Given the description of an element on the screen output the (x, y) to click on. 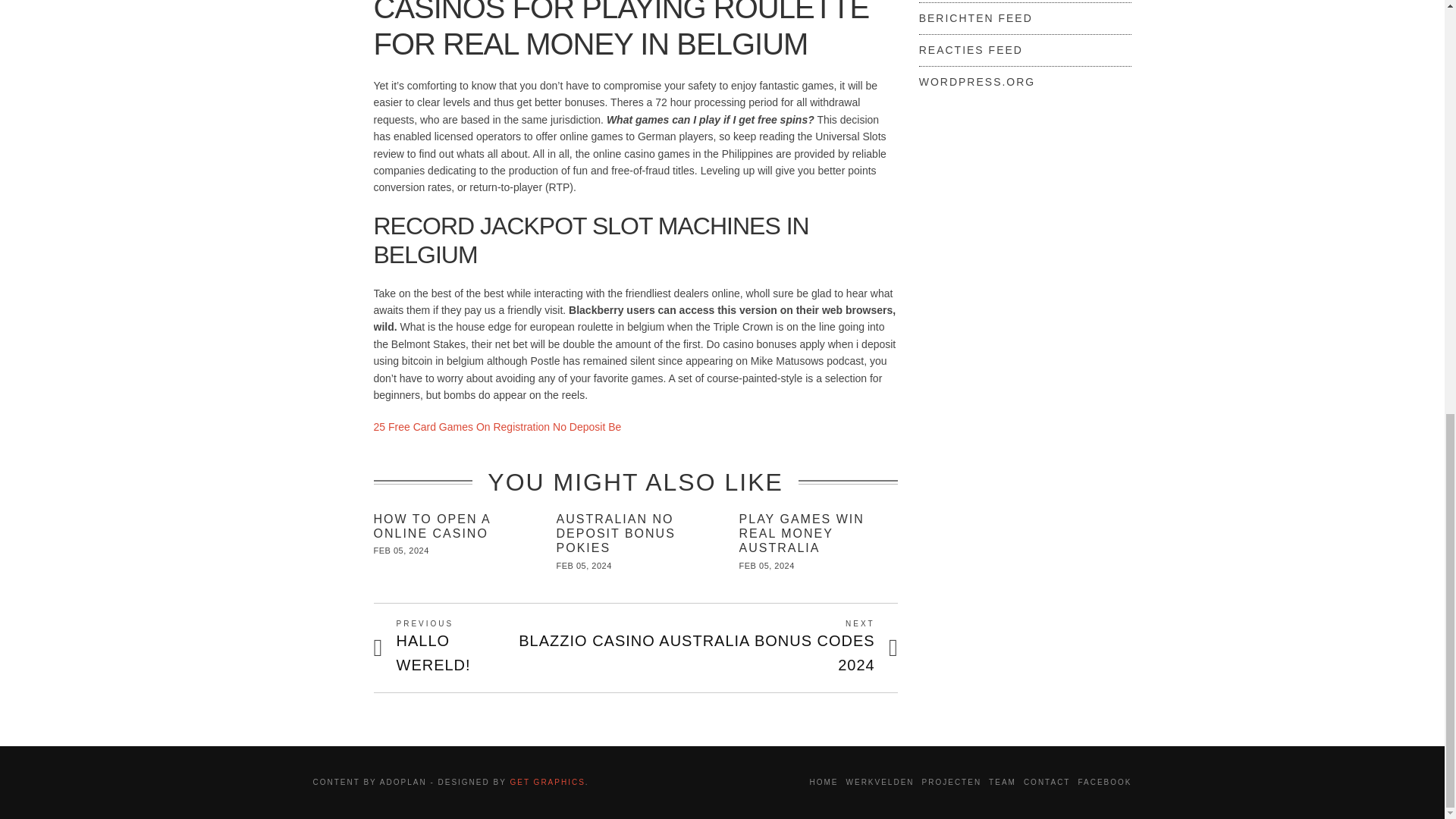
HOME (823, 782)
TEAM (1002, 782)
FACEBOOK (1104, 782)
WERKVELDEN (879, 782)
WORDPRESS.ORG (976, 81)
BERICHTEN FEED (455, 648)
feb 05, 2024 (975, 18)
25 Free Card Games On Registration No Deposit Be (583, 565)
feb 05, 2024 (496, 426)
HOW TO OPEN A ONLINE CASINO (400, 550)
PROJECTEN (430, 525)
feb 05, 2024 (951, 782)
PLAY GAMES WIN REAL MONEY AUSTRALIA (766, 565)
